Given the description of an element on the screen output the (x, y) to click on. 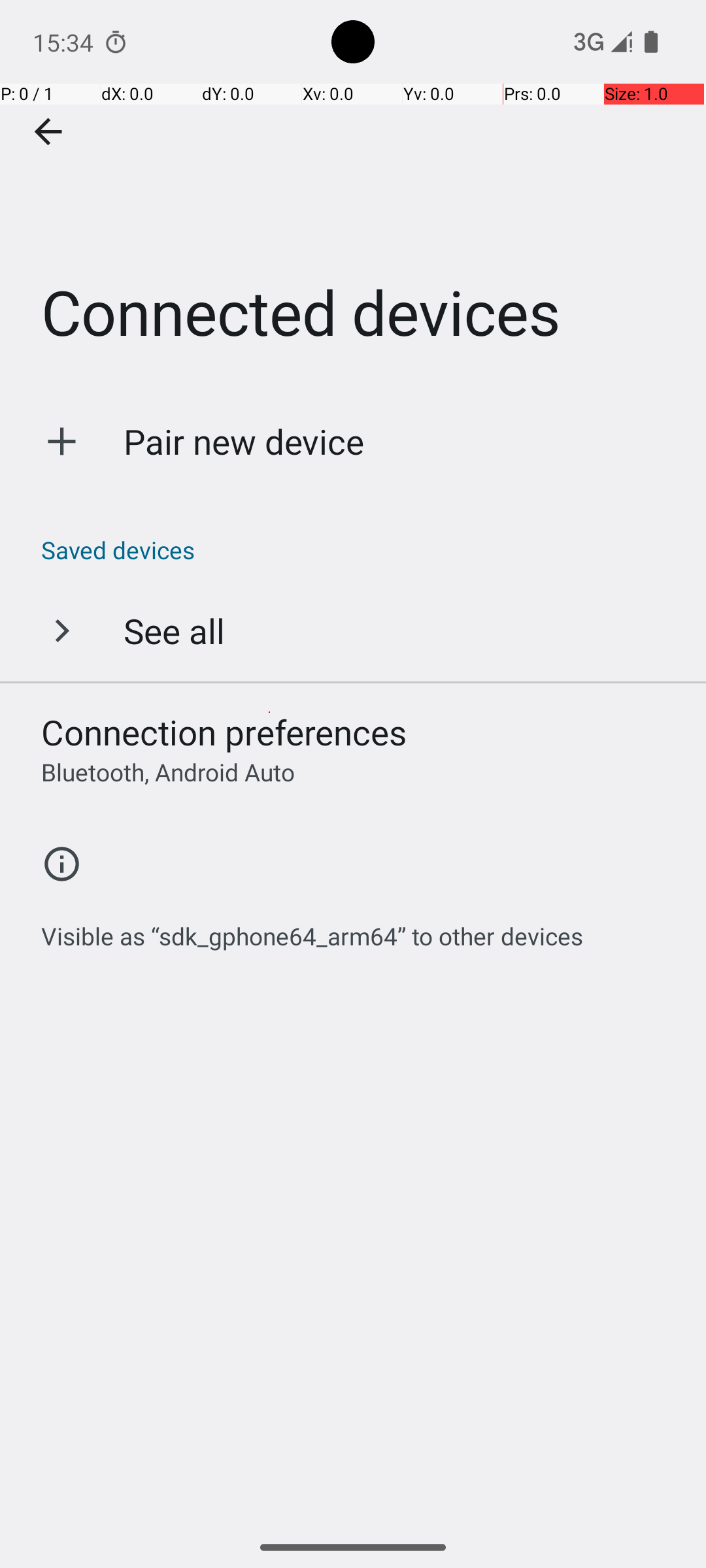
Visible as “sdk_gphone64_arm64” to other devices Element type: android.widget.TextView (312, 928)
